Given the description of an element on the screen output the (x, y) to click on. 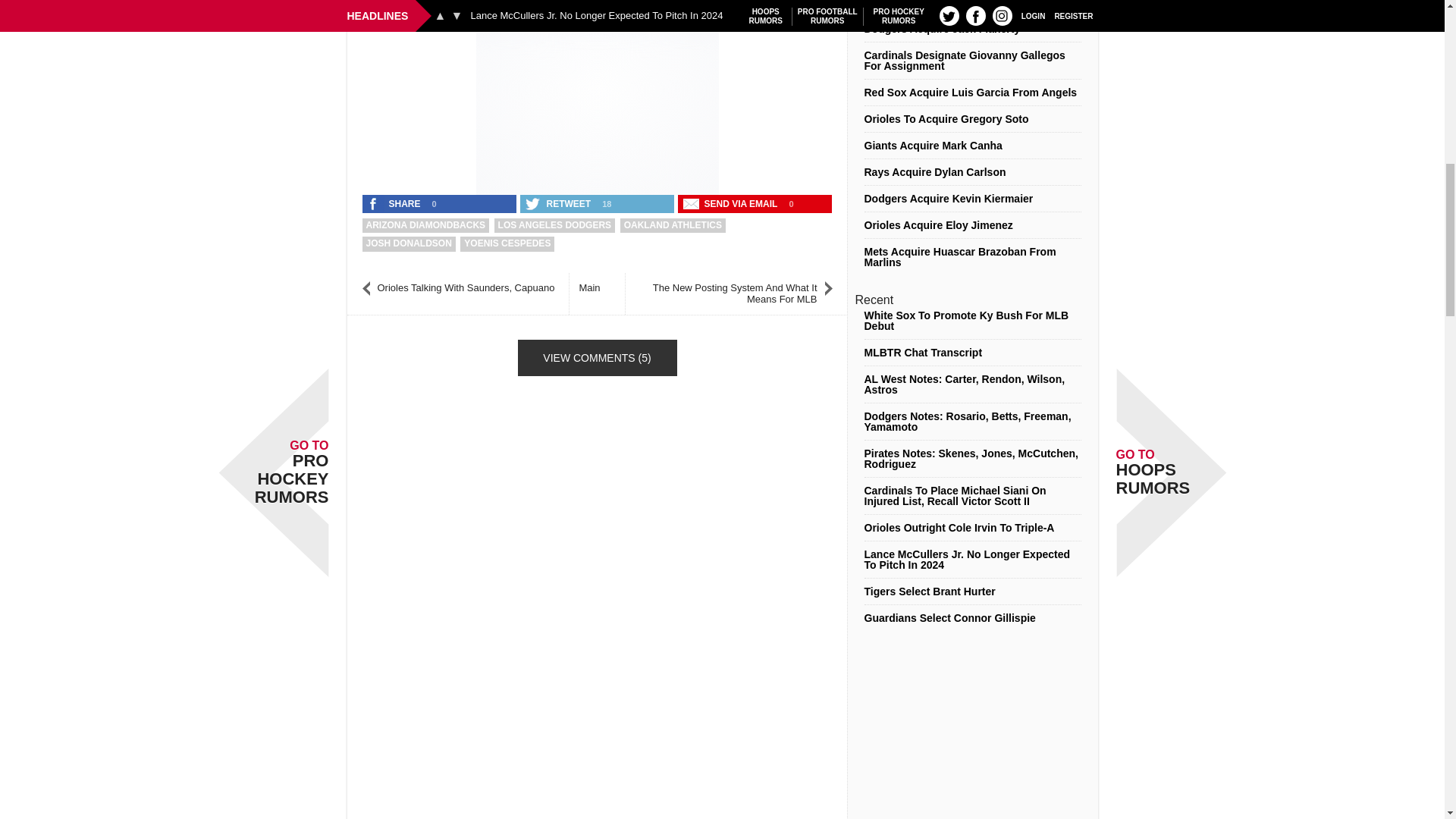
3rd party ad content (597, 93)
